Given the description of an element on the screen output the (x, y) to click on. 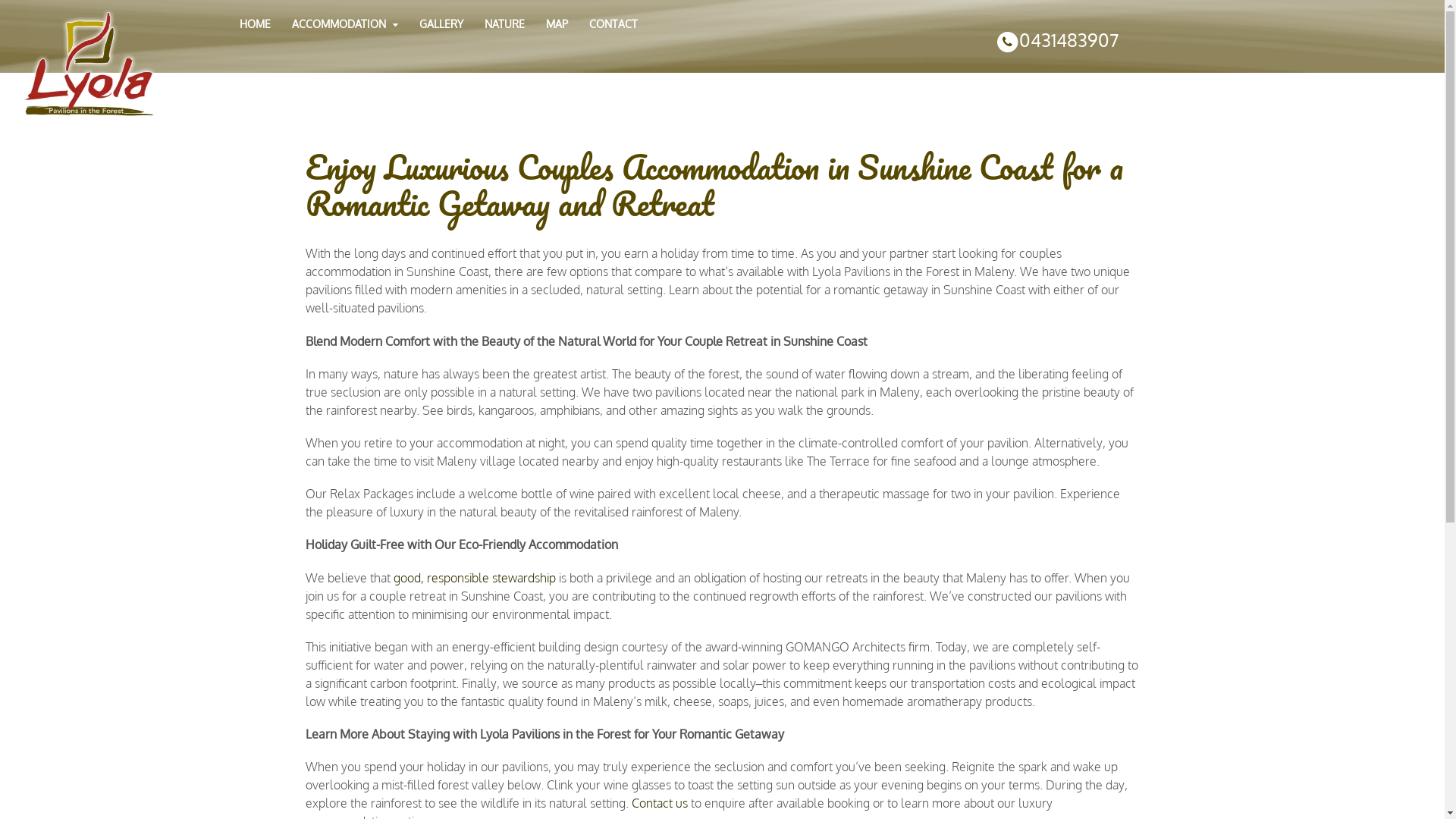
GALLERY Element type: text (440, 24)
good, responsible stewardship Element type: text (473, 577)
HOME Element type: text (255, 24)
NATURE Element type: text (504, 24)
CONTACT Element type: text (613, 24)
ACCOMMODATION Element type: text (345, 24)
MAP Element type: text (556, 24)
Contact us Element type: text (658, 802)
